Given the description of an element on the screen output the (x, y) to click on. 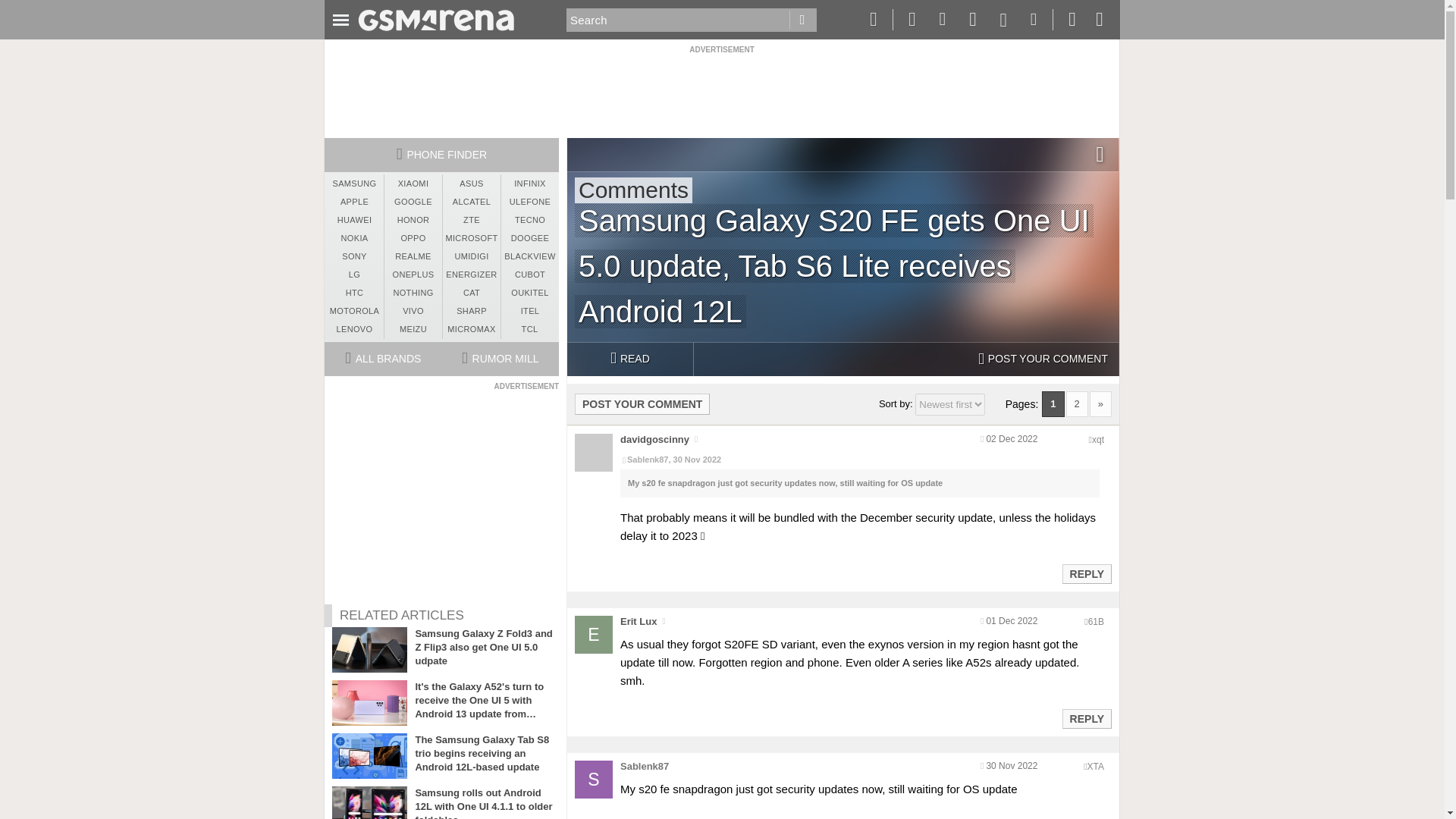
Go (802, 19)
POST YOUR COMMENT (642, 403)
POST YOUR COMMENT (1042, 359)
Encoded anonymized location (1097, 439)
Reply to this post (1086, 573)
Encoded anonymized location (1095, 621)
davidgoscinny (654, 439)
Reply to this post (1086, 718)
Sort comments by (950, 404)
3rd party ad content (721, 88)
Encoded anonymized location (1095, 766)
REPLY (1086, 719)
Erit Lux (638, 621)
READ (630, 359)
Go (802, 19)
